Given the description of an element on the screen output the (x, y) to click on. 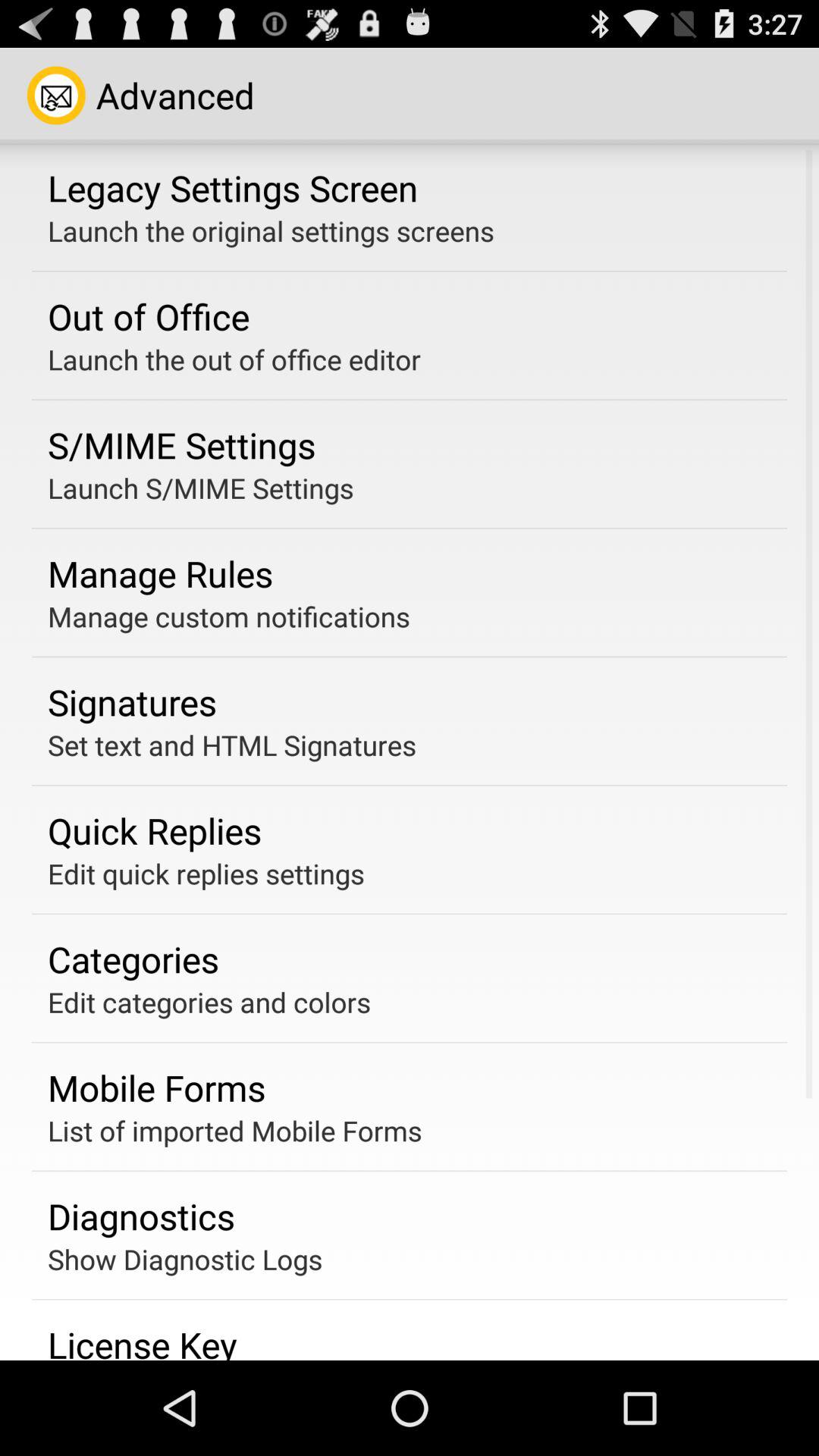
open the list of imported item (234, 1130)
